Given the description of an element on the screen output the (x, y) to click on. 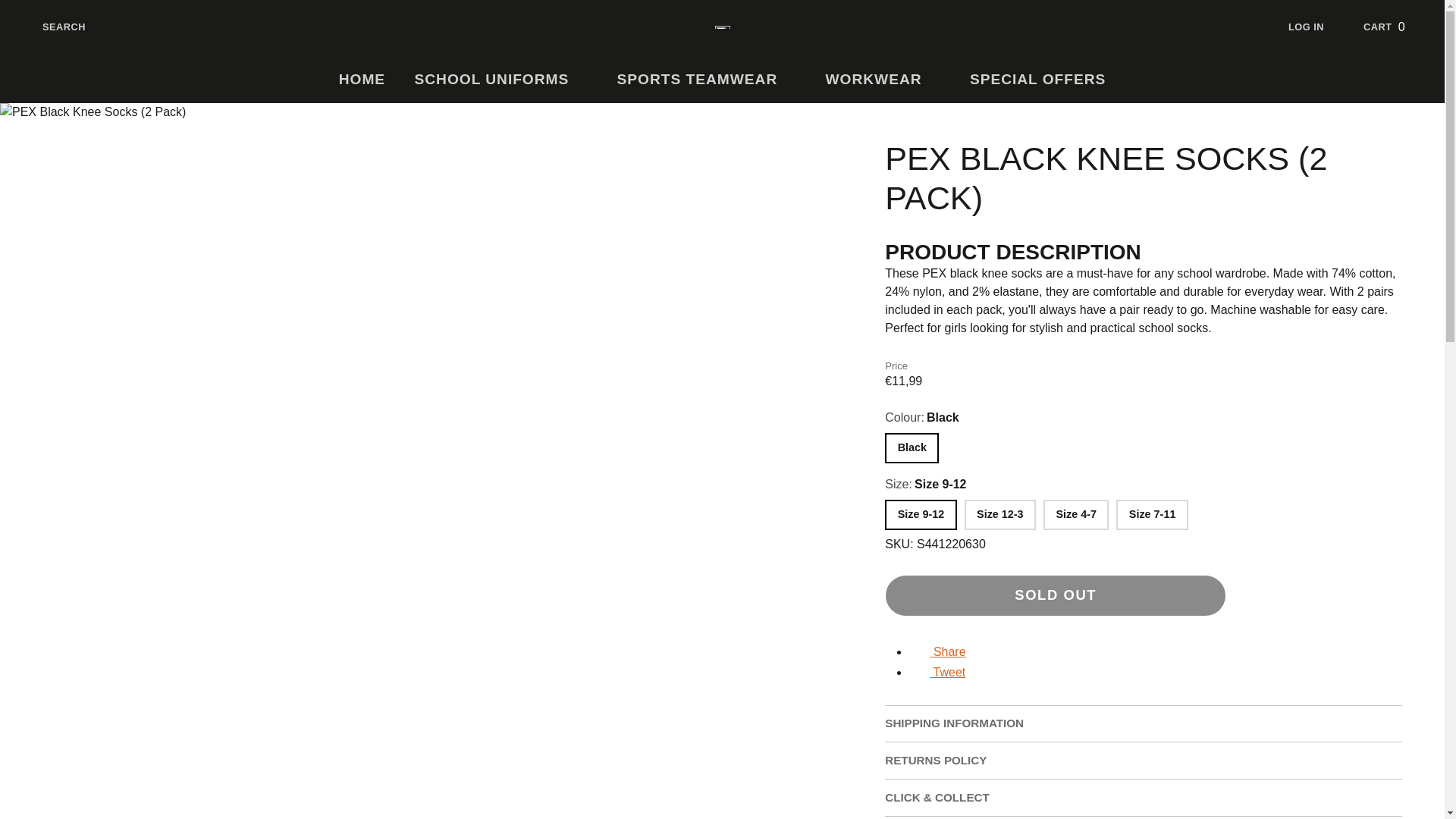
SCHOOL UNIFORMS (500, 79)
SPORTS TEAMWEAR (1394, 27)
LOG IN (706, 79)
Black (1318, 27)
SEARCH (362, 79)
